Given the description of an element on the screen output the (x, y) to click on. 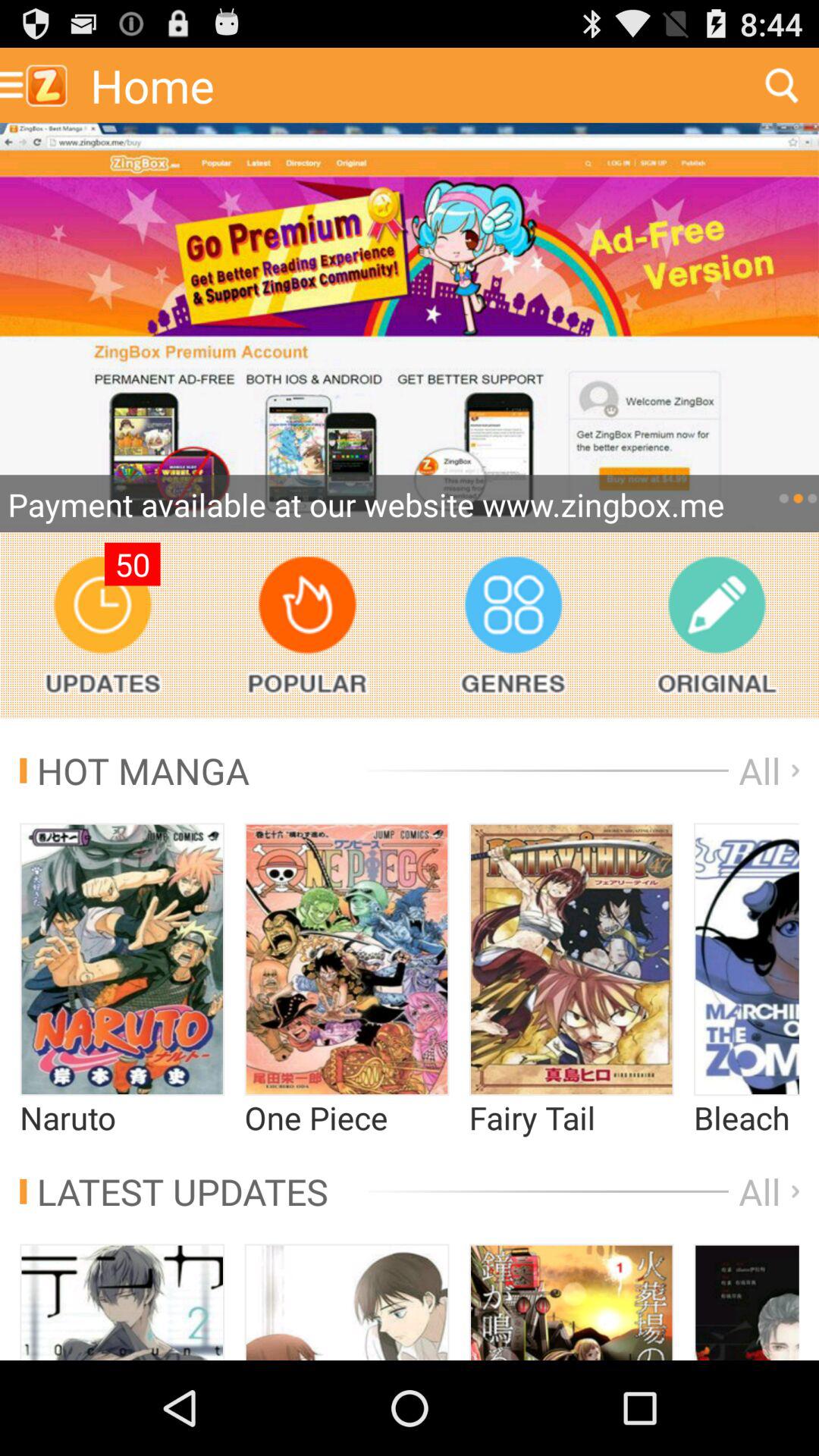
choose the hot manga item (134, 770)
